Given the description of an element on the screen output the (x, y) to click on. 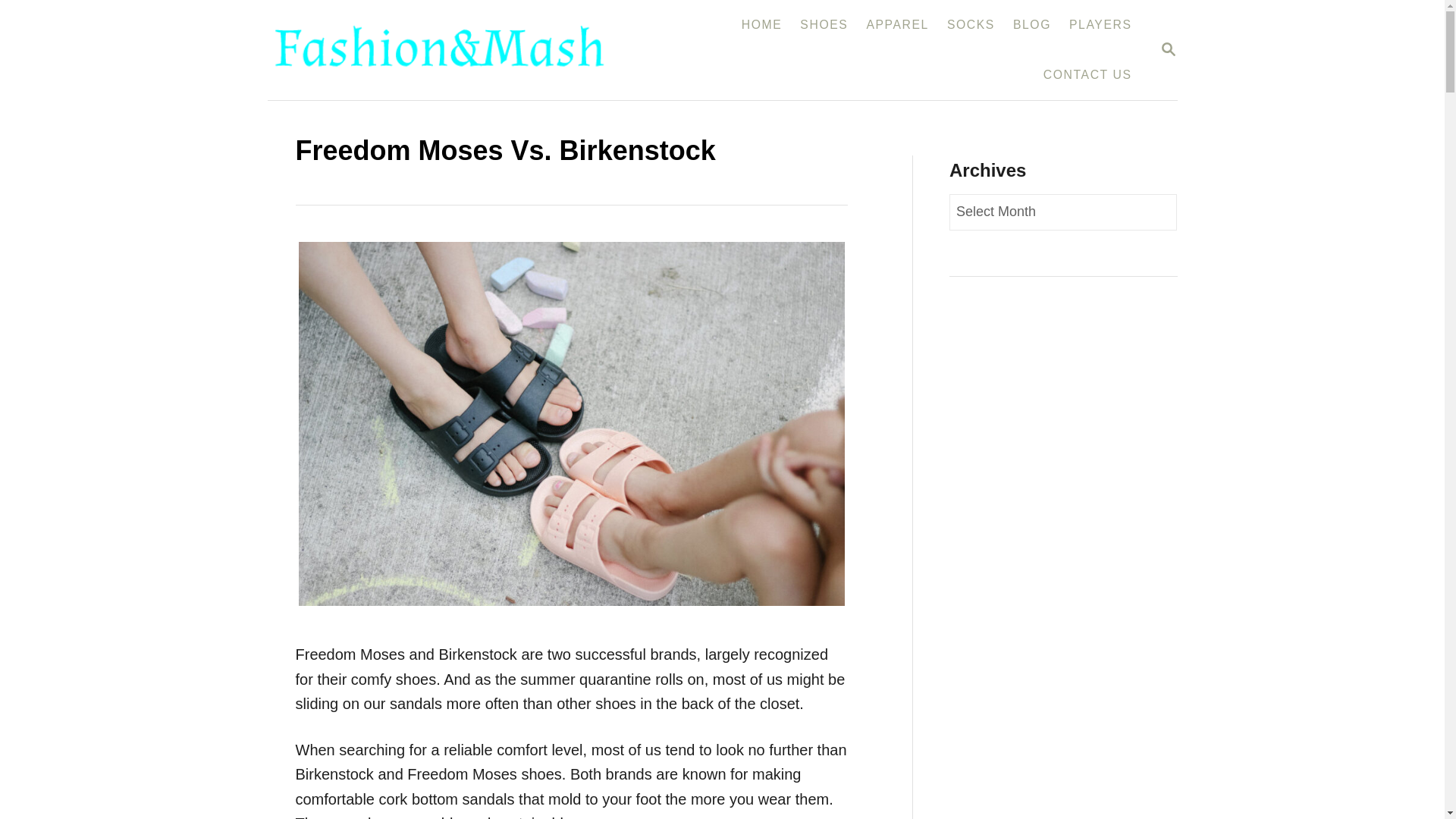
PLAYERS (1167, 50)
BLOG (1100, 24)
MAGNIFYING GLASS (1031, 24)
APPAREL (1167, 49)
HOME (897, 24)
SOCKS (762, 24)
Everything Fashion (970, 24)
SHOES (448, 49)
CONTACT US (823, 24)
